Given the description of an element on the screen output the (x, y) to click on. 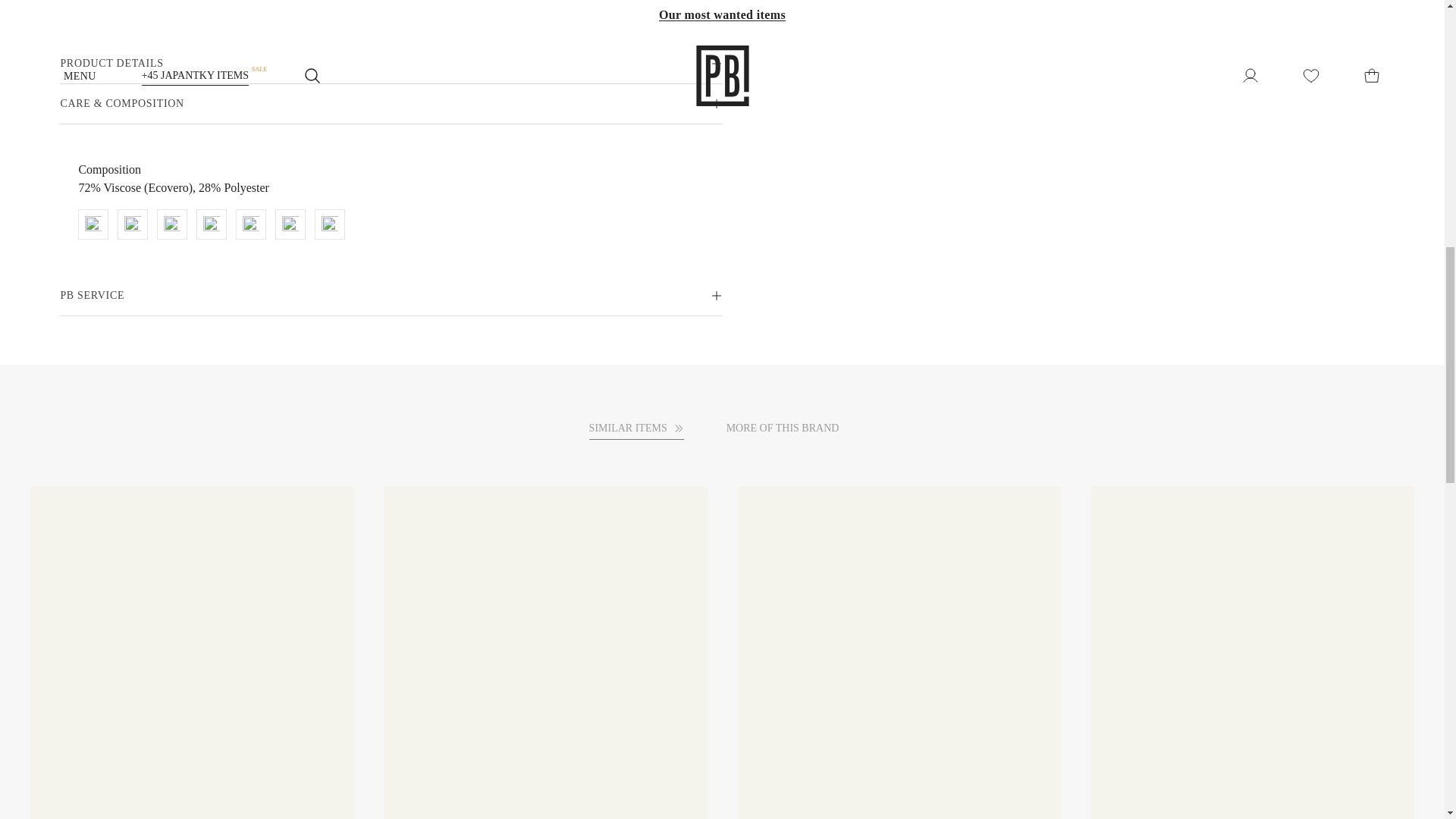
Iron at medium temperature (211, 224)
PB SERVICE (390, 296)
SIMILAR ITEMS (636, 427)
Do not bleach (251, 224)
Dry clean (290, 224)
Dry clean, all solvents (329, 224)
Do not dry in the dryer (171, 224)
MORE OF THIS BRAND (791, 427)
Hand wash (92, 224)
PRODUCT DETAILS (390, 64)
